Given the description of an element on the screen output the (x, y) to click on. 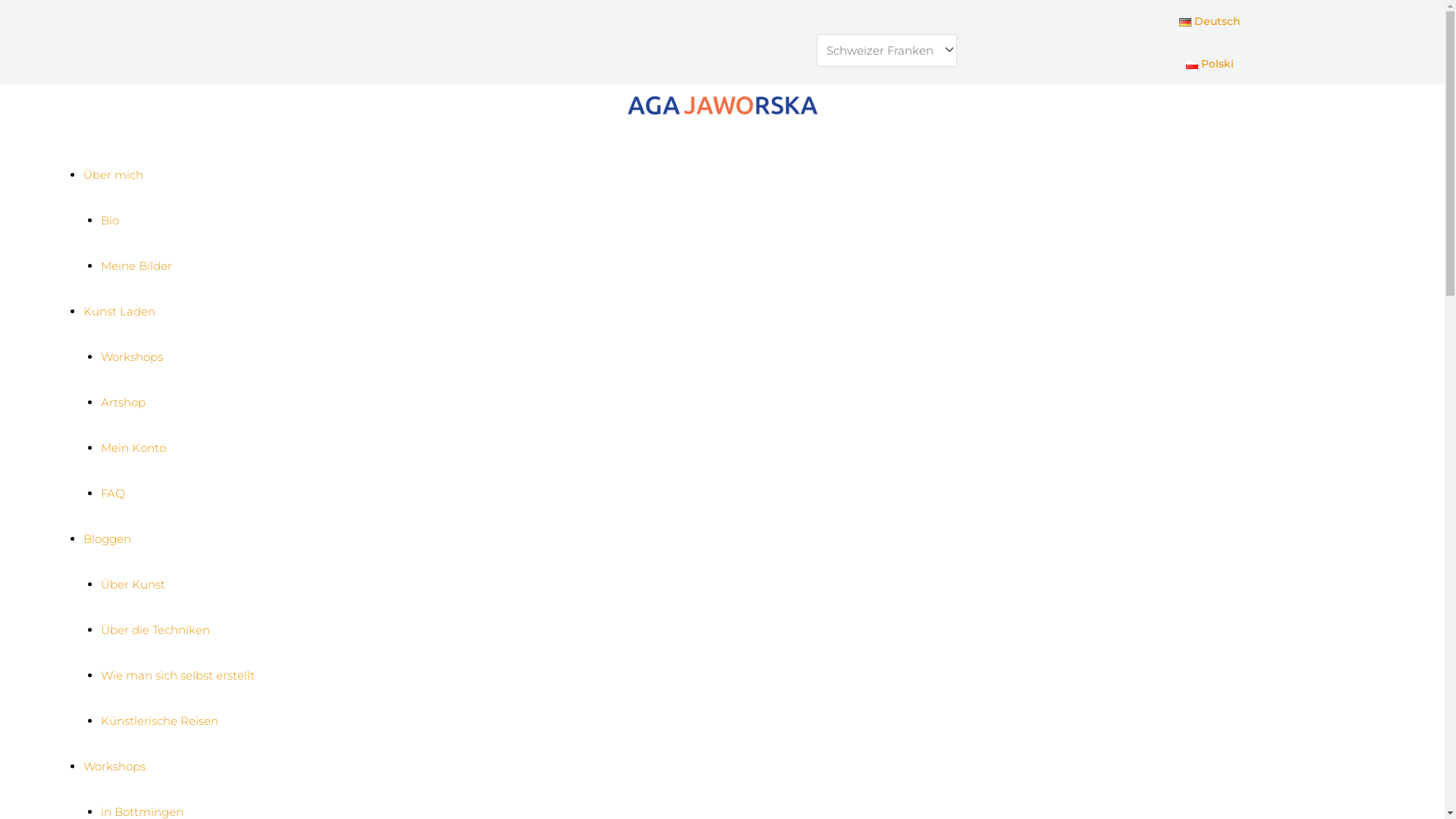
Deutsch Element type: text (1209, 21)
Mein Konto Element type: text (132, 447)
Kunst Laden Element type: text (119, 311)
Polski Element type: text (1209, 63)
Workshops Element type: text (114, 766)
Bio Element type: text (109, 220)
Wie man sich selbst erstellt Element type: text (177, 675)
Workshops Element type: text (131, 356)
Meine Bilder Element type: text (135, 265)
Bloggen Element type: text (107, 538)
FAQ Element type: text (112, 493)
Artshop Element type: text (122, 402)
